Given the description of an element on the screen output the (x, y) to click on. 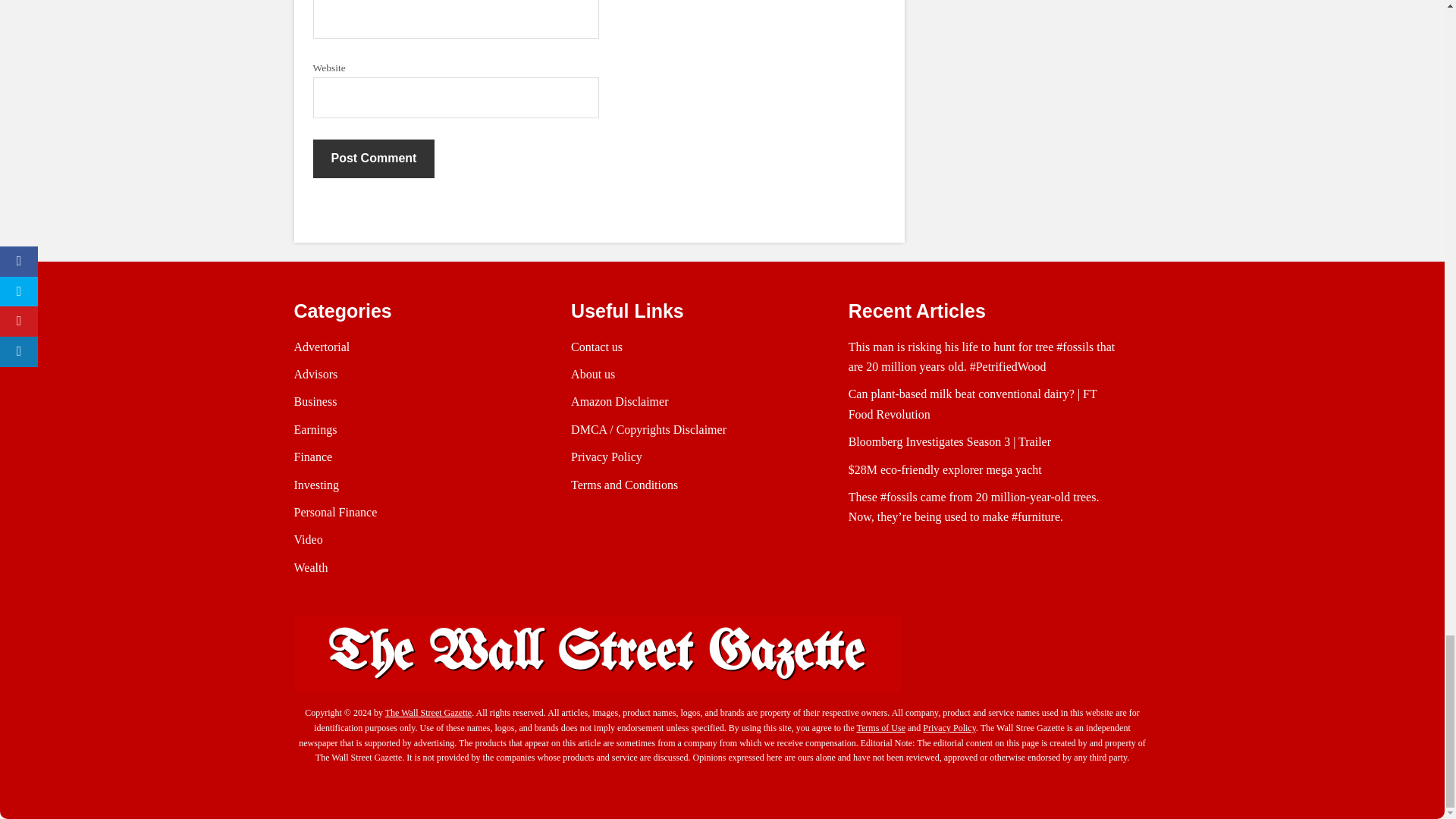
Post Comment (373, 158)
